Given the description of an element on the screen output the (x, y) to click on. 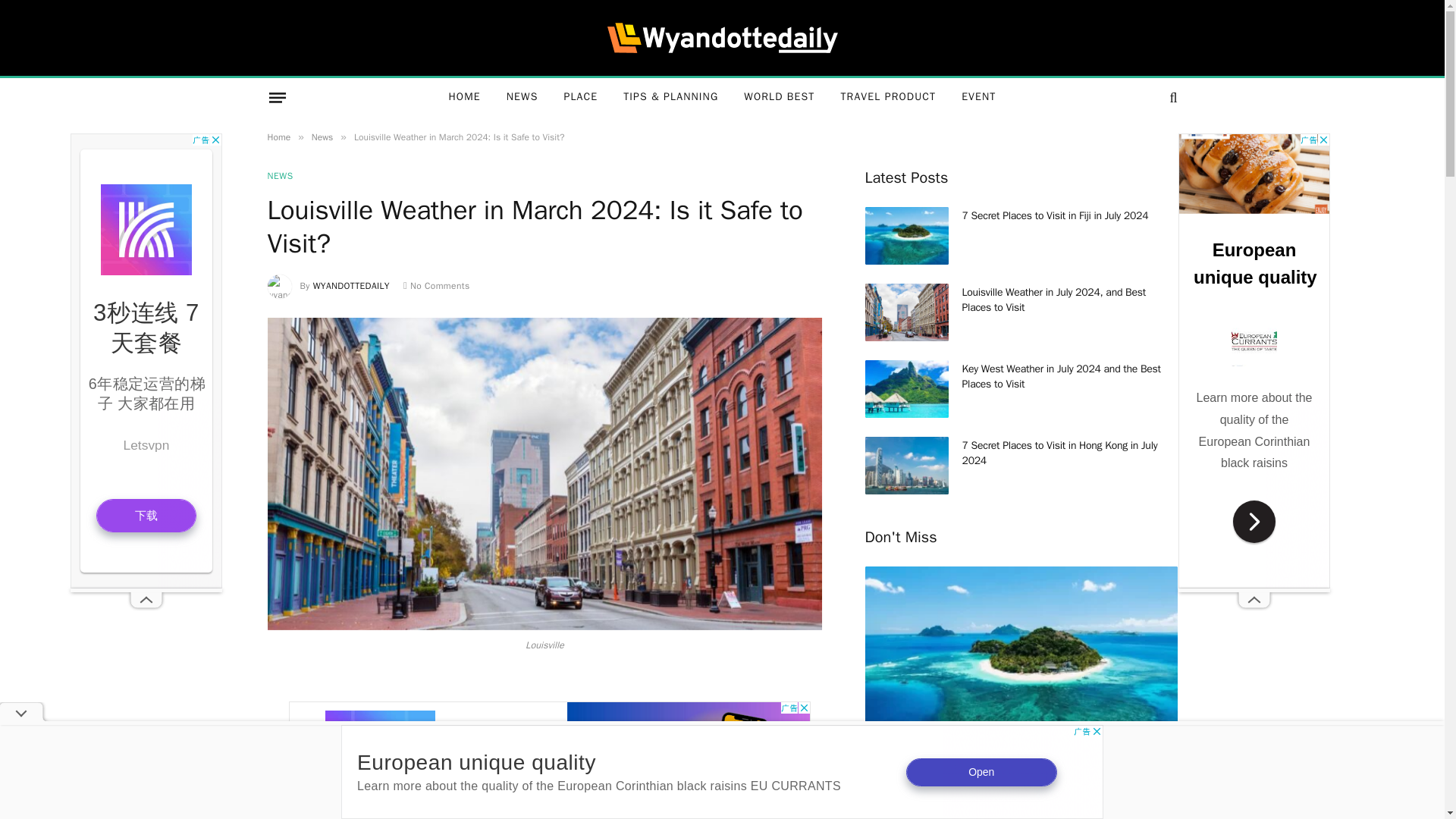
News (322, 137)
EVENT (979, 97)
WYANDOTTEDAILY (351, 285)
TRAVEL PRODUCT (888, 97)
HOME (464, 97)
Home (277, 137)
No Comments (436, 285)
NEWS (279, 175)
PLACE (580, 97)
Search (1171, 97)
NEWS (522, 97)
wyandottedaily.com (722, 37)
Posts by wyandottedaily (351, 285)
WORLD BEST (778, 97)
